Given the description of an element on the screen output the (x, y) to click on. 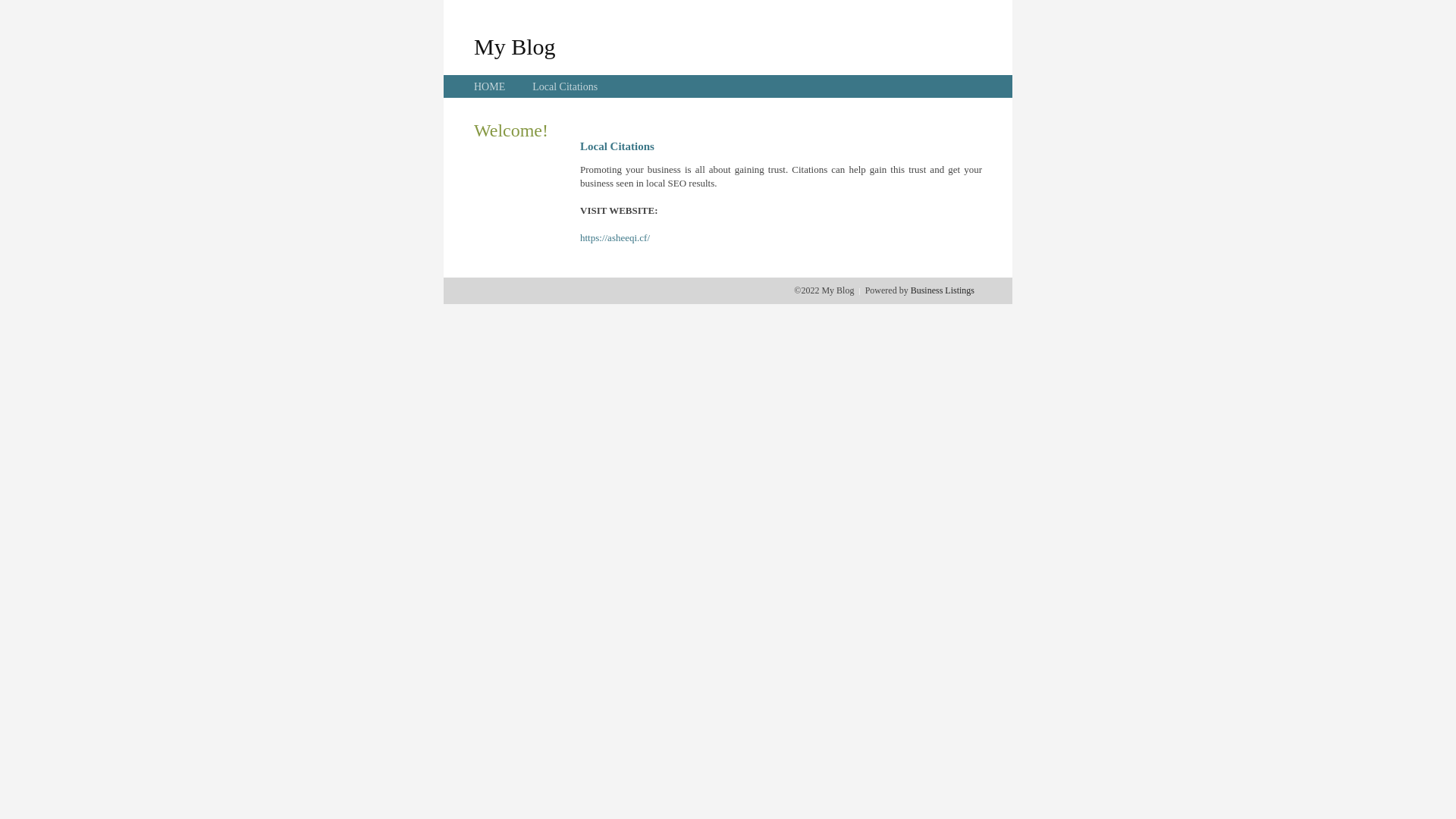
Business Listings Element type: text (942, 290)
My Blog Element type: text (514, 46)
Local Citations Element type: text (564, 86)
https://asheeqi.cf/ Element type: text (614, 237)
HOME Element type: text (489, 86)
